Given the description of an element on the screen output the (x, y) to click on. 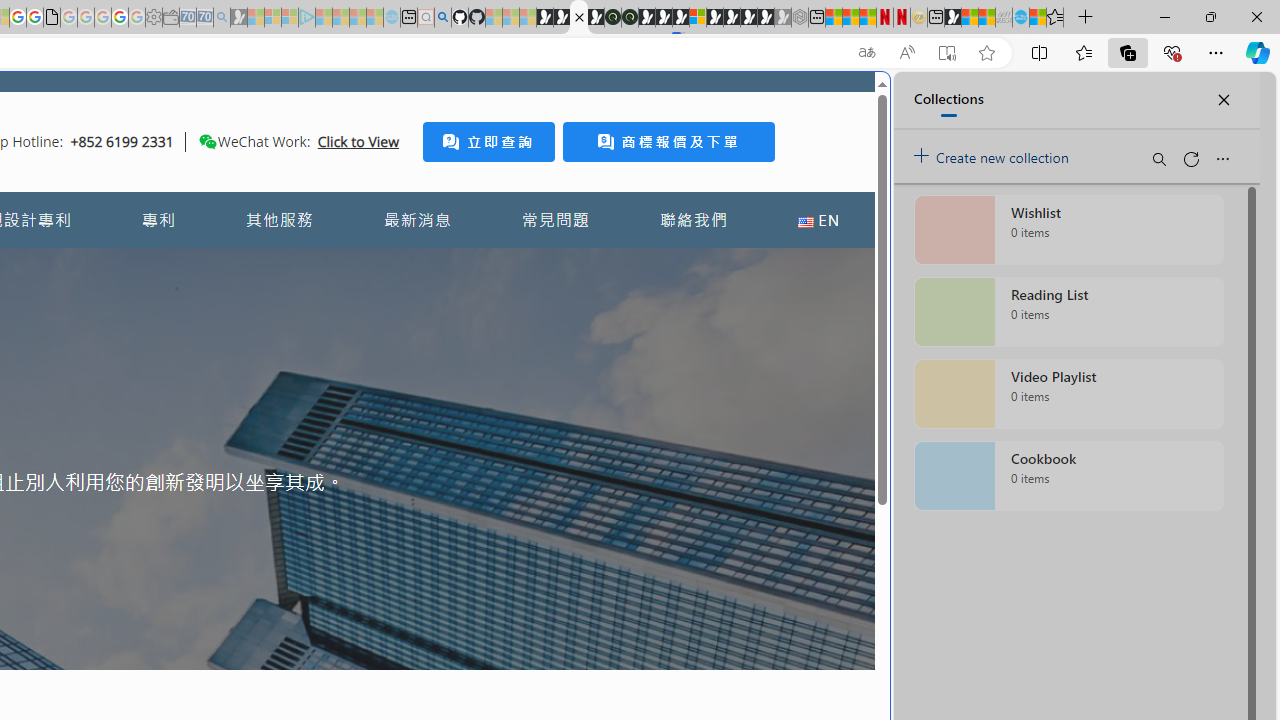
Play Zoo Boom in your browser | Games from Microsoft Start (561, 17)
Show translate options (867, 53)
Play Cave FRVR in your browser | Games from Microsoft Start (343, 426)
